Given the description of an element on the screen output the (x, y) to click on. 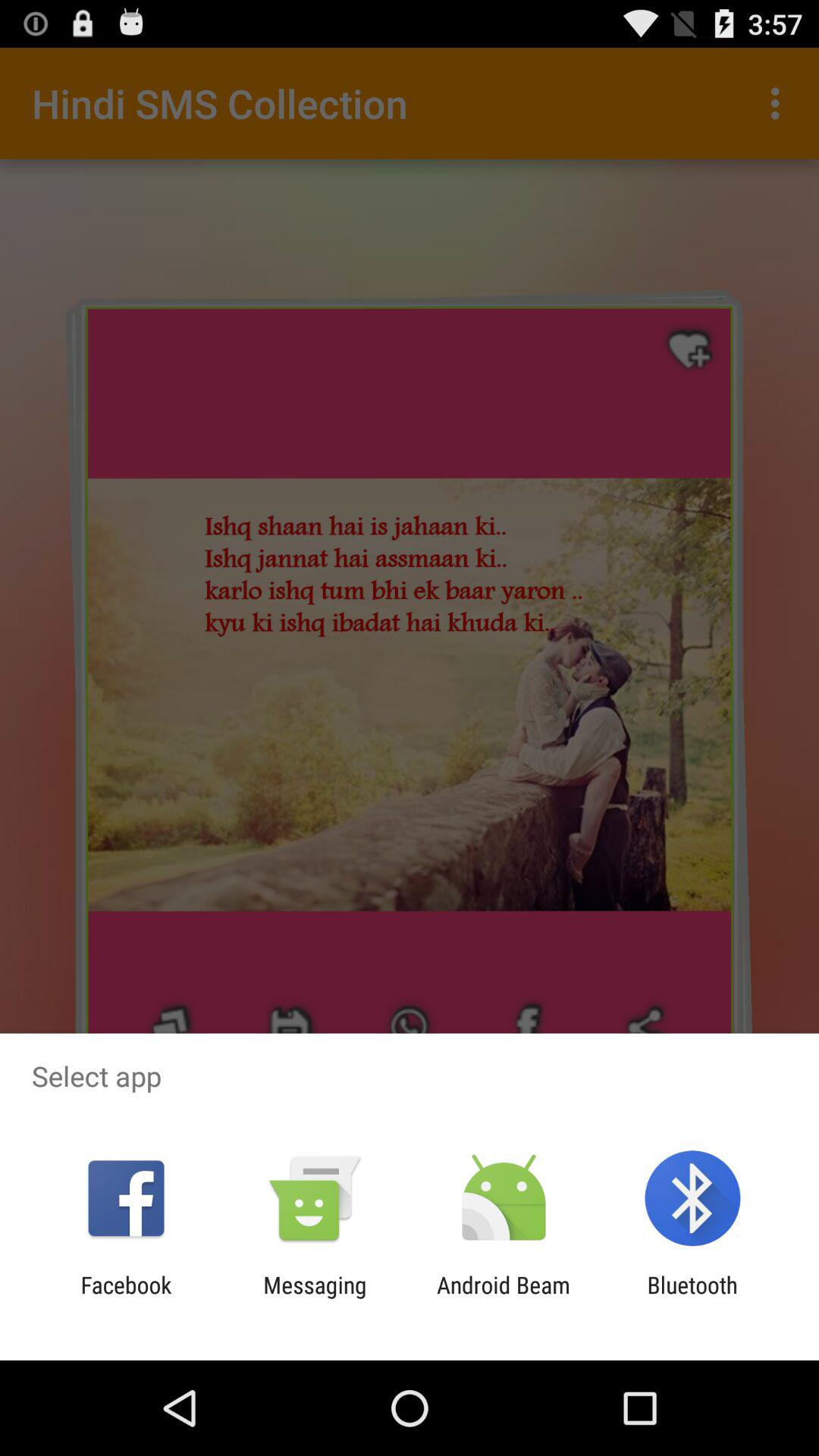
swipe to the android beam app (503, 1298)
